Given the description of an element on the screen output the (x, y) to click on. 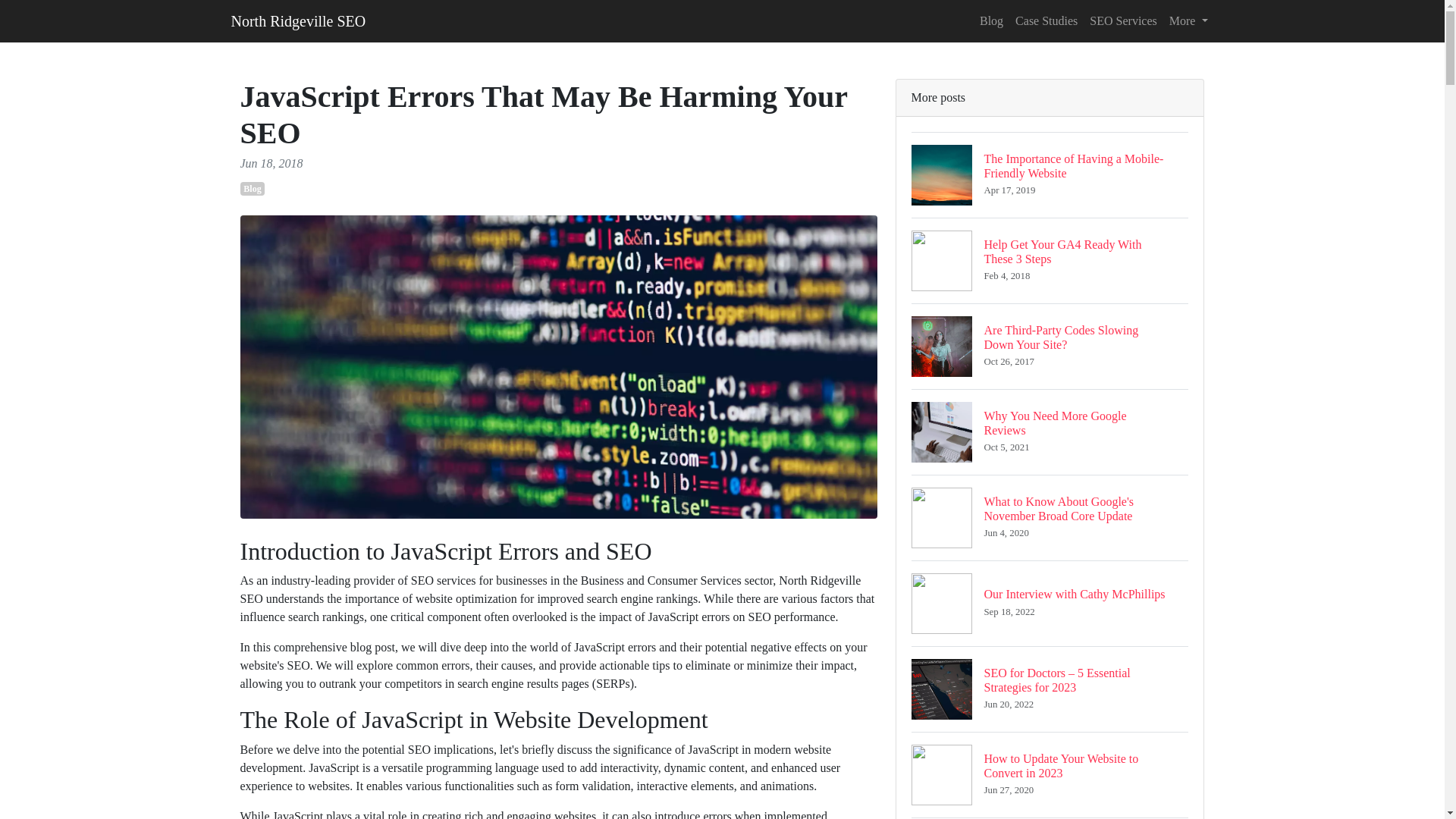
Blog (252, 188)
SEO Services (1050, 603)
Case Studies (1050, 774)
Blog (1122, 20)
North Ridgeville SEO (1050, 260)
More (1046, 20)
